Given the description of an element on the screen output the (x, y) to click on. 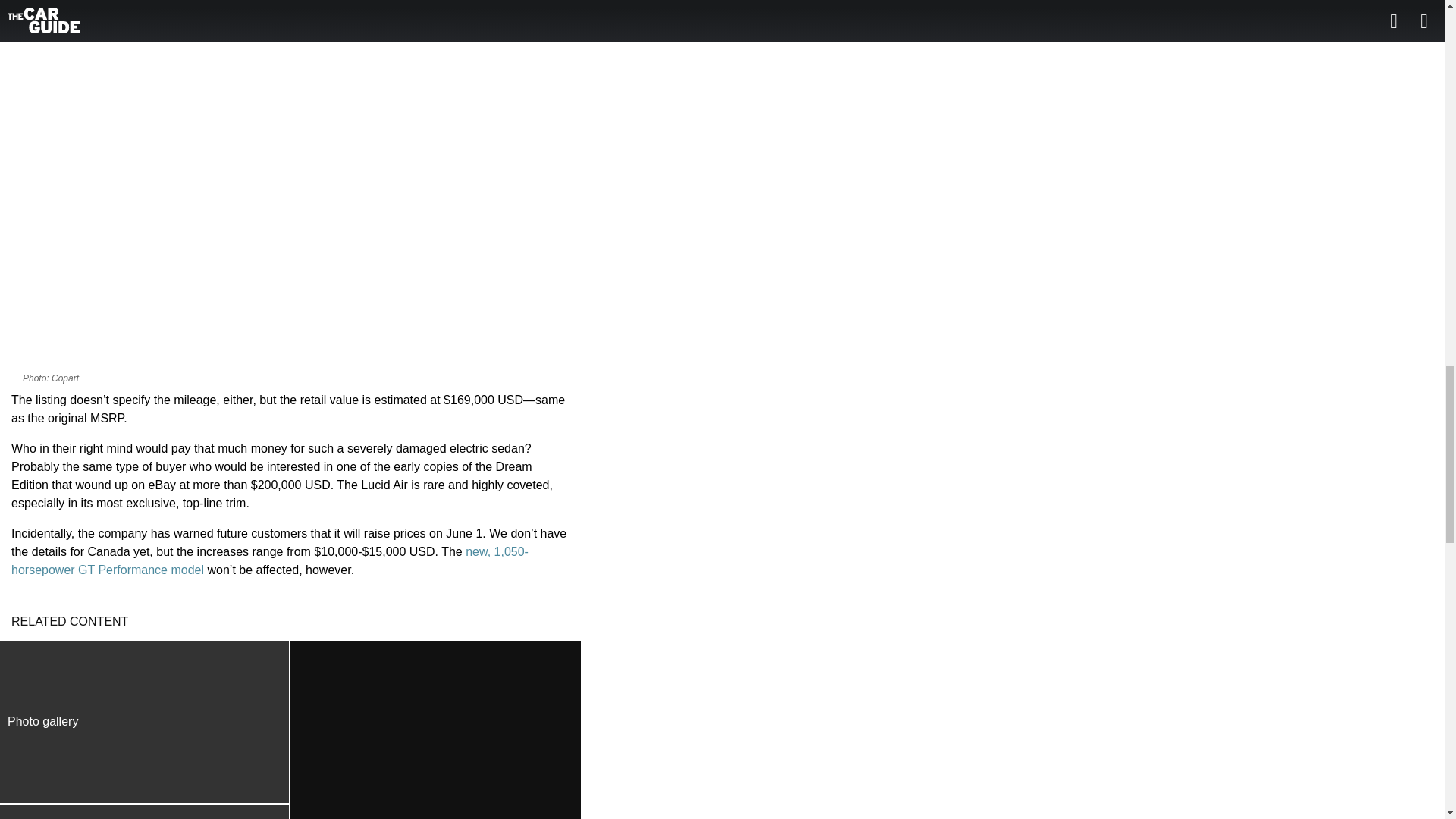
new, 1,050-horsepower GT Performance model (269, 560)
Photo gallery (144, 721)
More on the Lucid Air (144, 811)
